Given the description of an element on the screen output the (x, y) to click on. 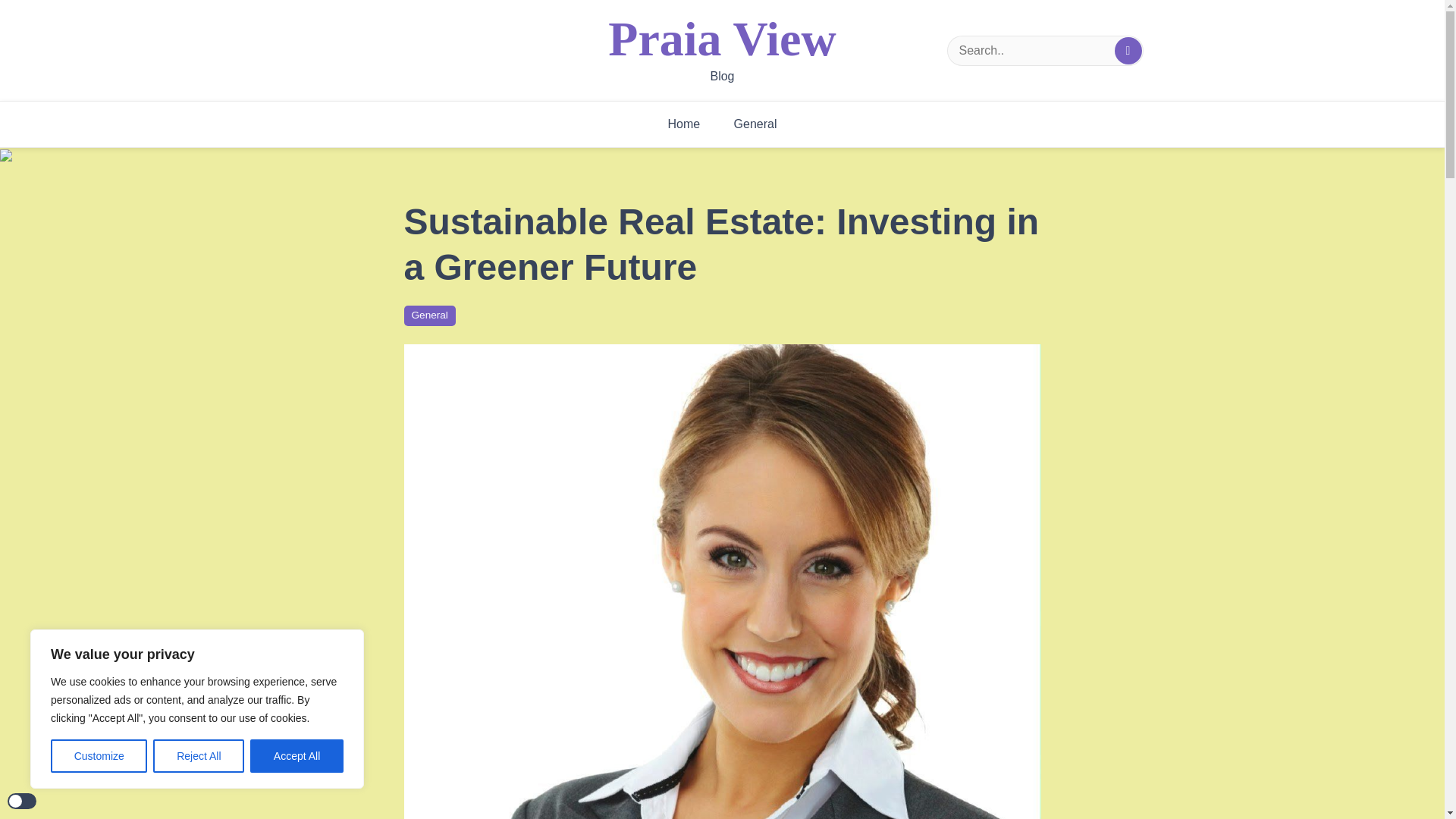
Praia View (721, 39)
General (755, 123)
Customize (98, 756)
General (428, 315)
Home (683, 123)
Reject All (198, 756)
Accept All (296, 756)
